Given the description of an element on the screen output the (x, y) to click on. 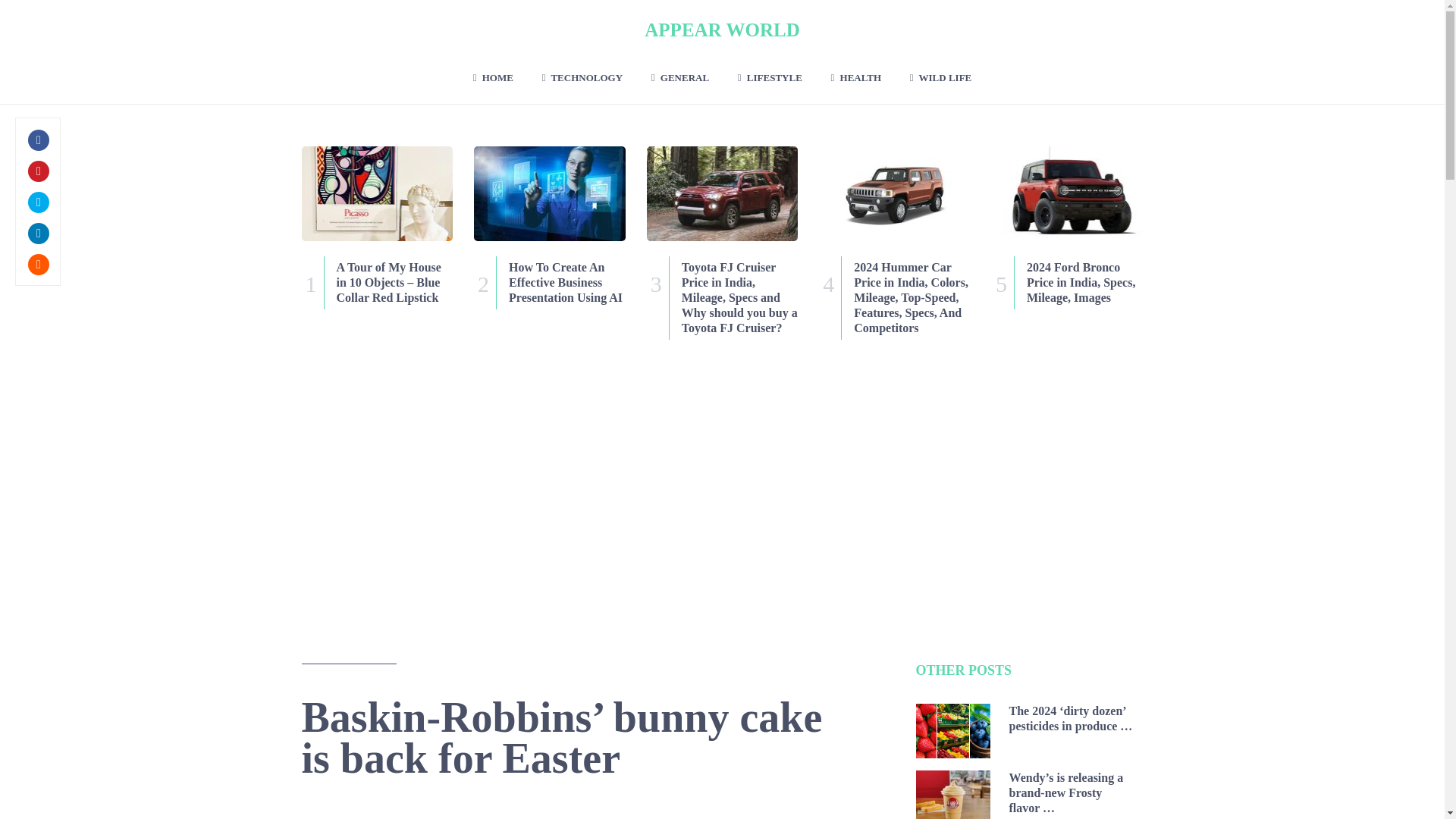
How To Create An Effective Business Presentation Using AI (550, 282)
How To Create An Effective Business Presentation Using AI (550, 282)
How To Create An Effective Business Presentation Using AI (550, 193)
2024 Ford Bronco Price in India, Specs, Mileage, Images (1066, 193)
2024 Ford Bronco Price in India, Specs, Mileage, Images (1066, 282)
LIFESTYLE (770, 77)
2024 Ford Bronco Price in India, Specs, Mileage, Images (1066, 282)
TECHNOLOGY (582, 77)
WILD LIFE (940, 77)
HOME (493, 77)
